Given the description of an element on the screen output the (x, y) to click on. 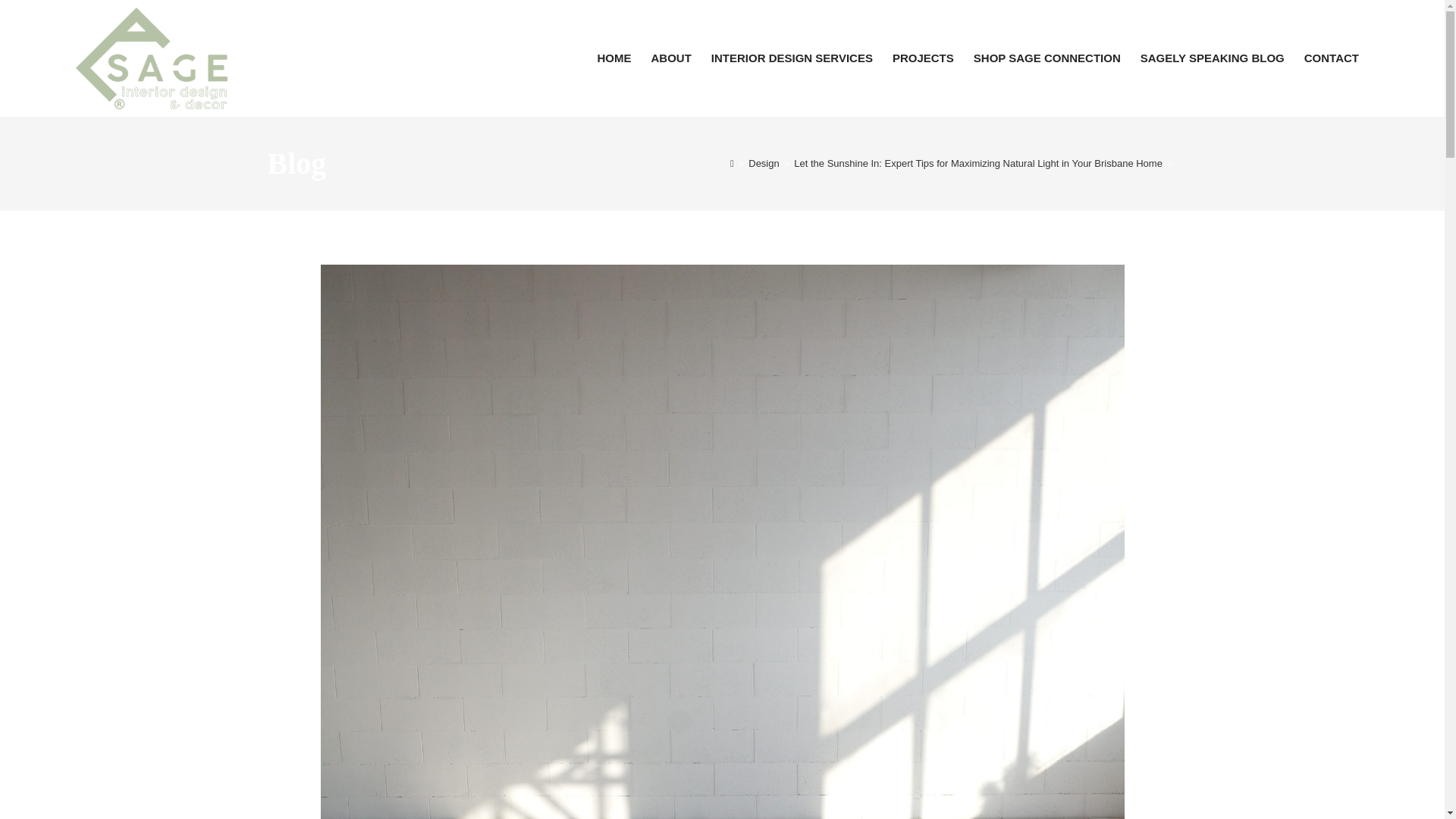
ABOUT (671, 58)
Design (763, 163)
HOME (613, 58)
CONTACT (1331, 58)
SAGELY SPEAKING BLOG (1212, 58)
PROJECTS (922, 58)
INTERIOR DESIGN SERVICES (791, 58)
SHOP SAGE CONNECTION (1047, 58)
